Given the description of an element on the screen output the (x, y) to click on. 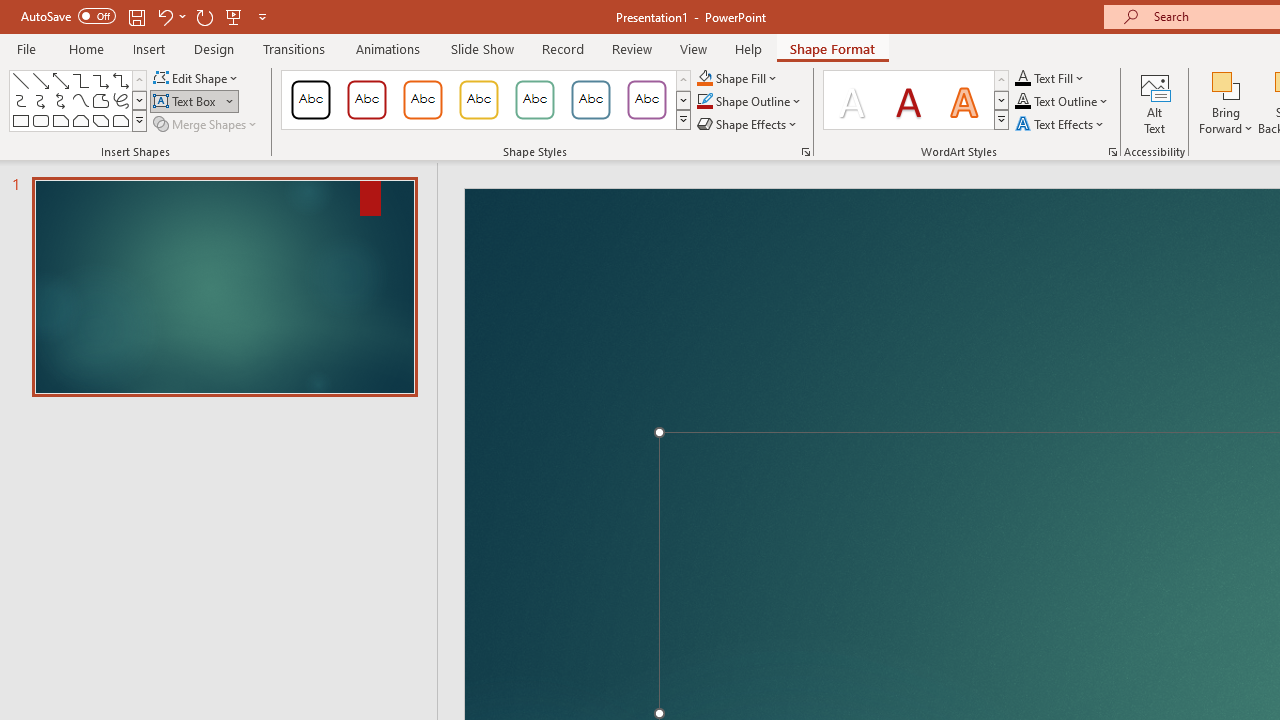
Fill: White, Text color 1; Shadow (852, 100)
Text Fill RGB(0, 0, 0) (1023, 78)
Text Effects (1061, 124)
Rectangle: Top Corners One Rounded and One Snipped (120, 120)
